Given the description of an element on the screen output the (x, y) to click on. 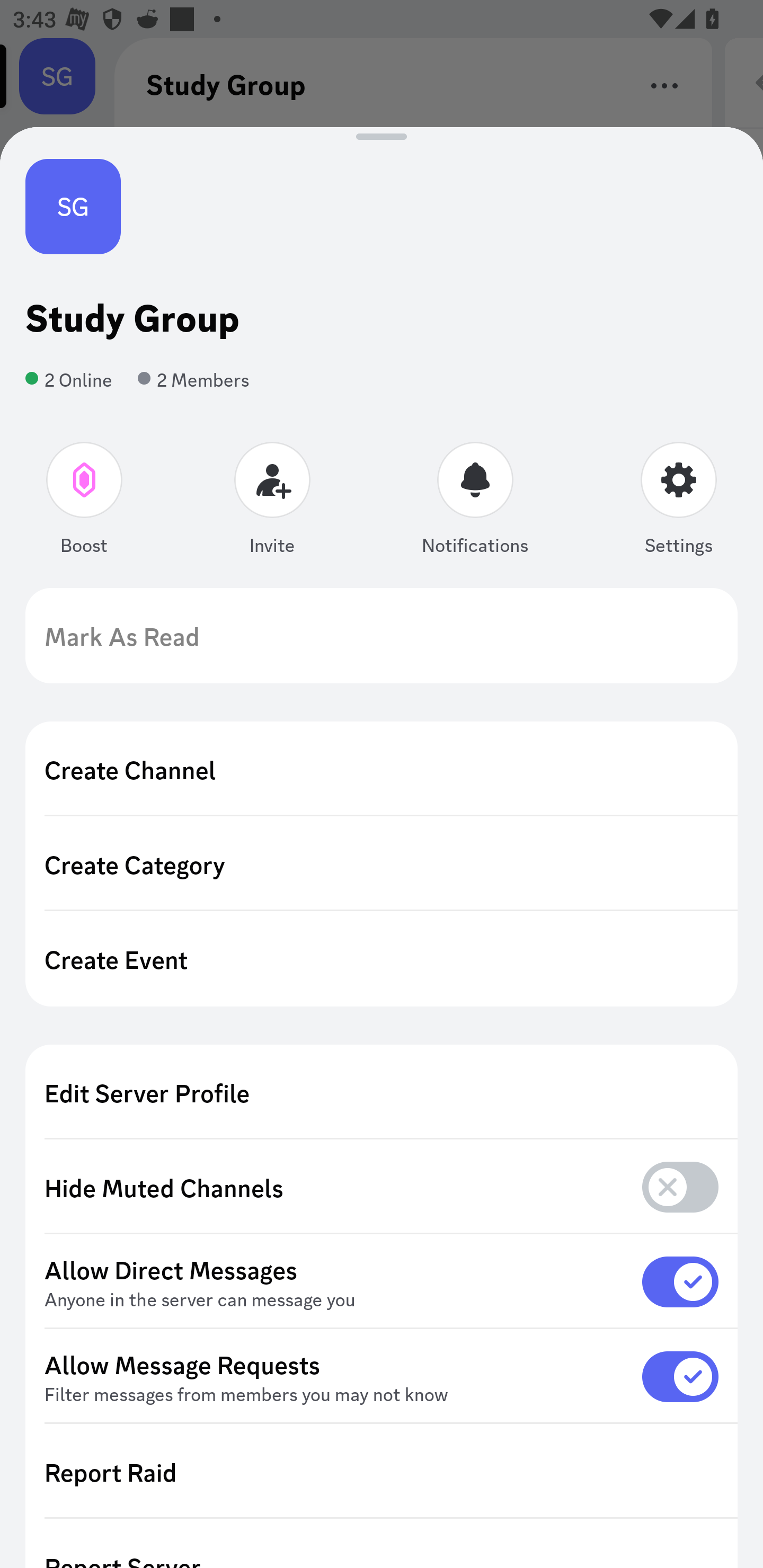
Boost (84, 502)
Invite (272, 502)
Notifications (475, 502)
Settings (678, 502)
Mark As Read (381, 635)
Create Channel (381, 768)
Create Category (381, 863)
Create Event (381, 958)
Edit Server Profile (381, 1091)
off Hide Muted Channels,  Hide Muted Channels off (381, 1187)
off (680, 1186)
on (680, 1281)
on (680, 1376)
Report Raid (381, 1471)
